Given the description of an element on the screen output the (x, y) to click on. 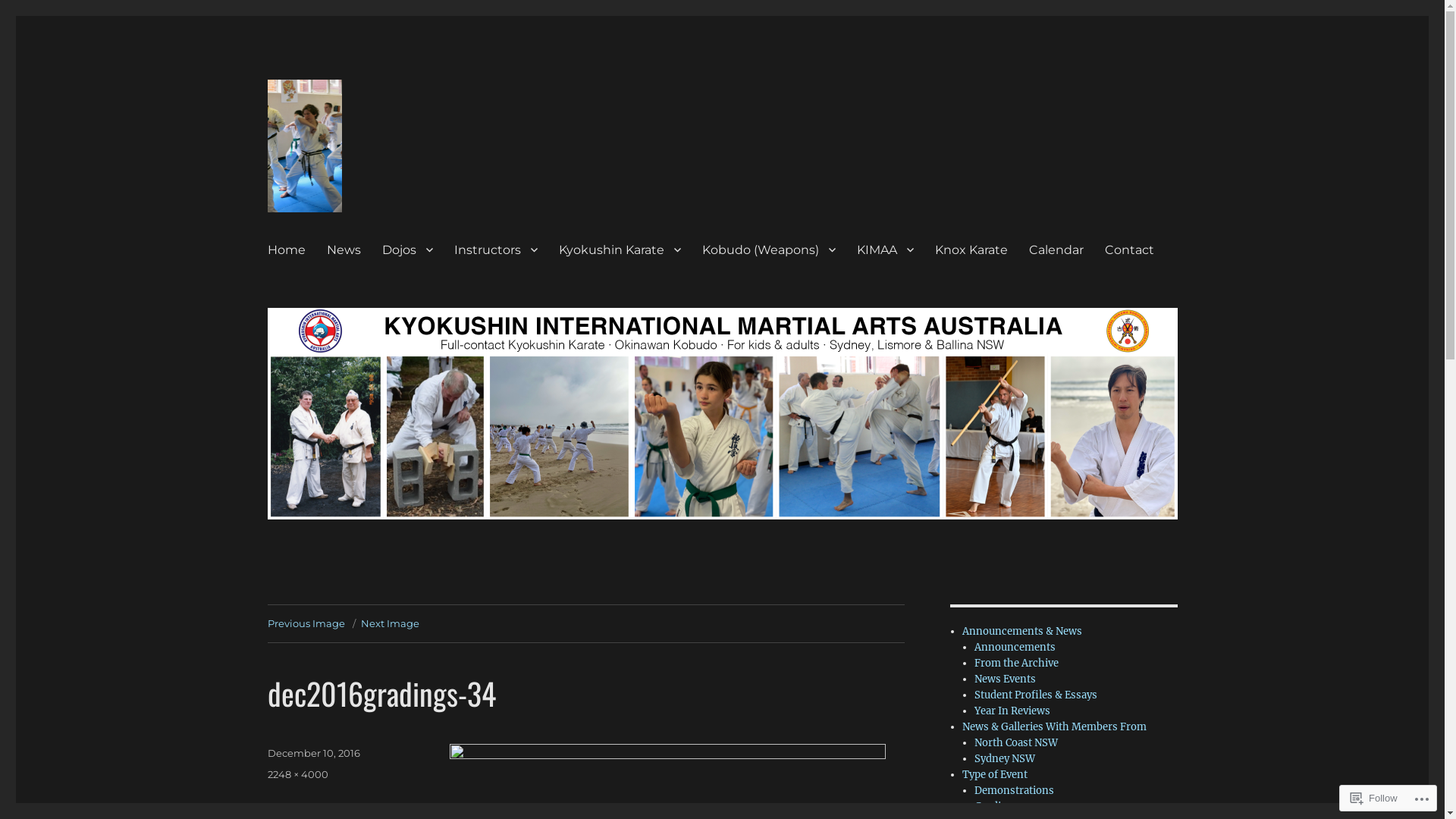
KIMAA Element type: text (885, 249)
From the Archive Element type: text (1016, 662)
Announcements Element type: text (1014, 646)
Kobudo (Weapons) Element type: text (768, 249)
Dojos Element type: text (407, 249)
Knox Karate Element type: text (970, 249)
December 10, 2016 Element type: text (312, 752)
Calendar Element type: text (1055, 249)
Kyokushin Karate Element type: text (618, 249)
News Element type: text (342, 249)
Gradings Element type: text (996, 806)
Demonstrations Element type: text (1014, 790)
Home Element type: text (285, 249)
Sydney NSW Element type: text (1004, 758)
Follow Element type: text (1373, 797)
North Coast NSW Element type: text (1015, 742)
Kyokushin International Martial Arts Australia Element type: text (437, 225)
Previous Image Element type: text (305, 623)
Next Image Element type: text (389, 623)
Contact Element type: text (1128, 249)
Announcements & News Element type: text (1022, 630)
News & Galleries With Members From Element type: text (1054, 726)
Student Profiles & Essays Element type: text (1035, 694)
Type of Event Element type: text (994, 774)
Year In Reviews Element type: text (1012, 710)
Instructors Element type: text (494, 249)
News Events Element type: text (1004, 678)
